Given the description of an element on the screen output the (x, y) to click on. 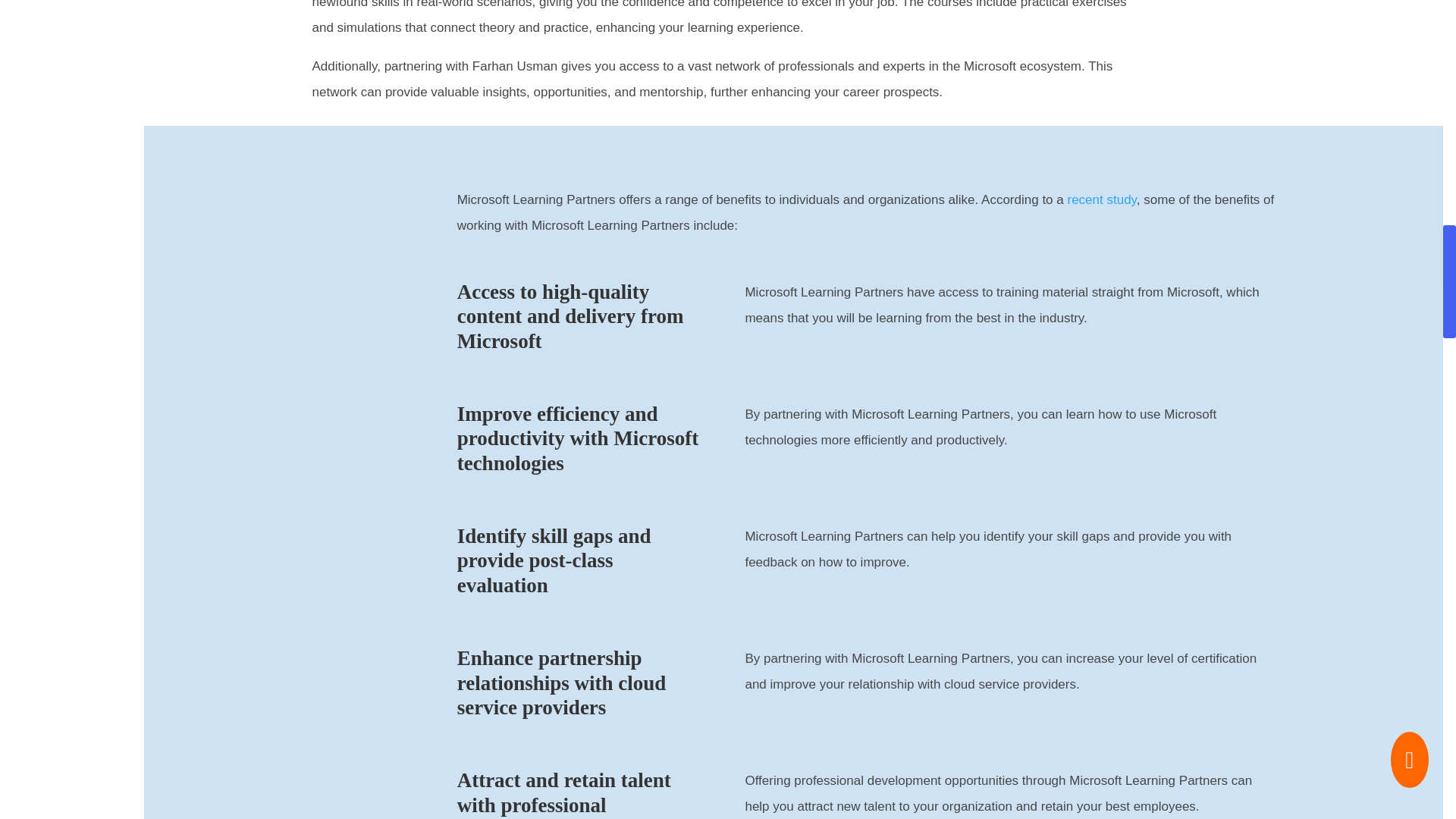
recent study (1101, 199)
